Given the description of an element on the screen output the (x, y) to click on. 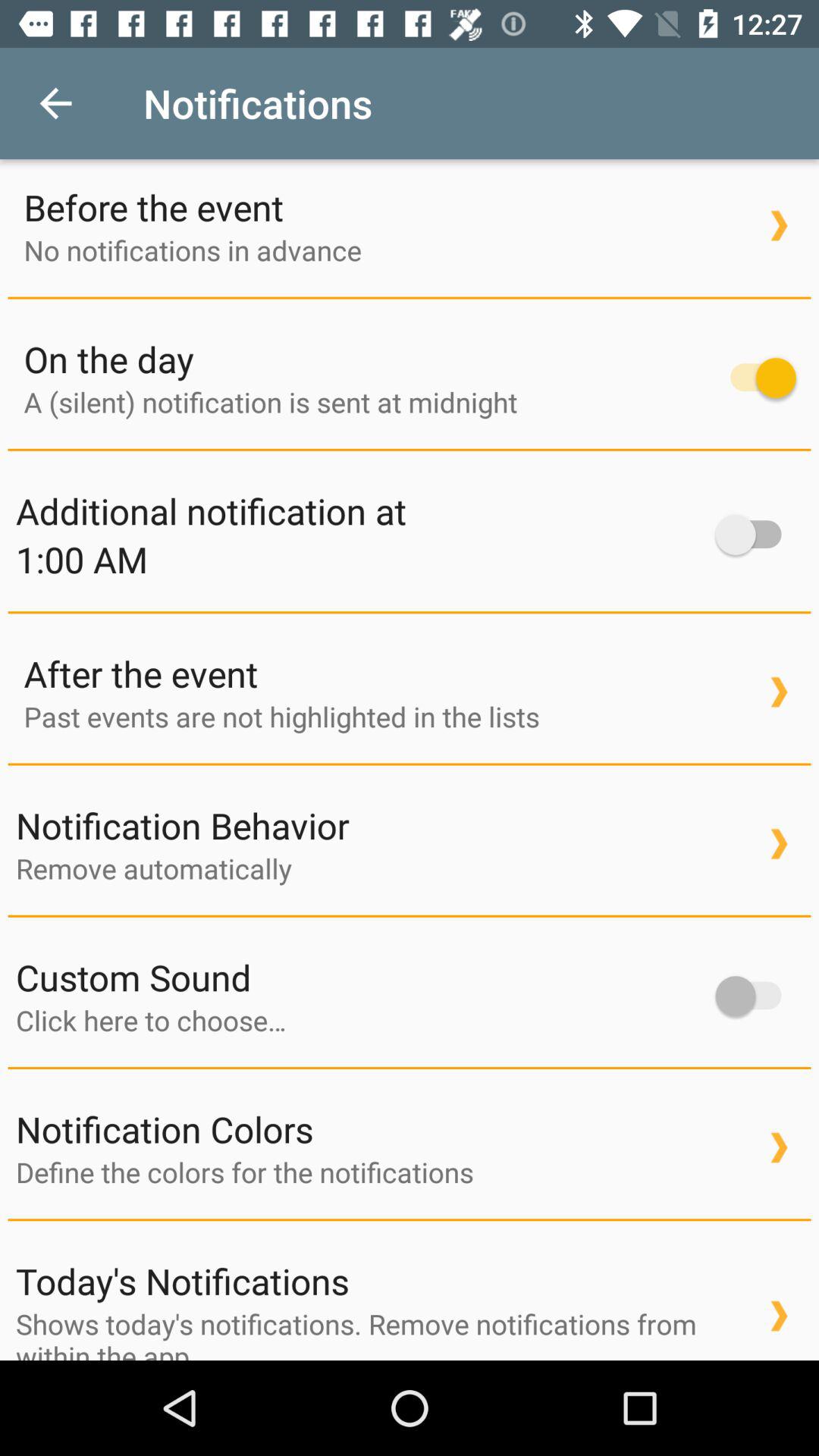
click item next to on the day (755, 377)
